Given the description of an element on the screen output the (x, y) to click on. 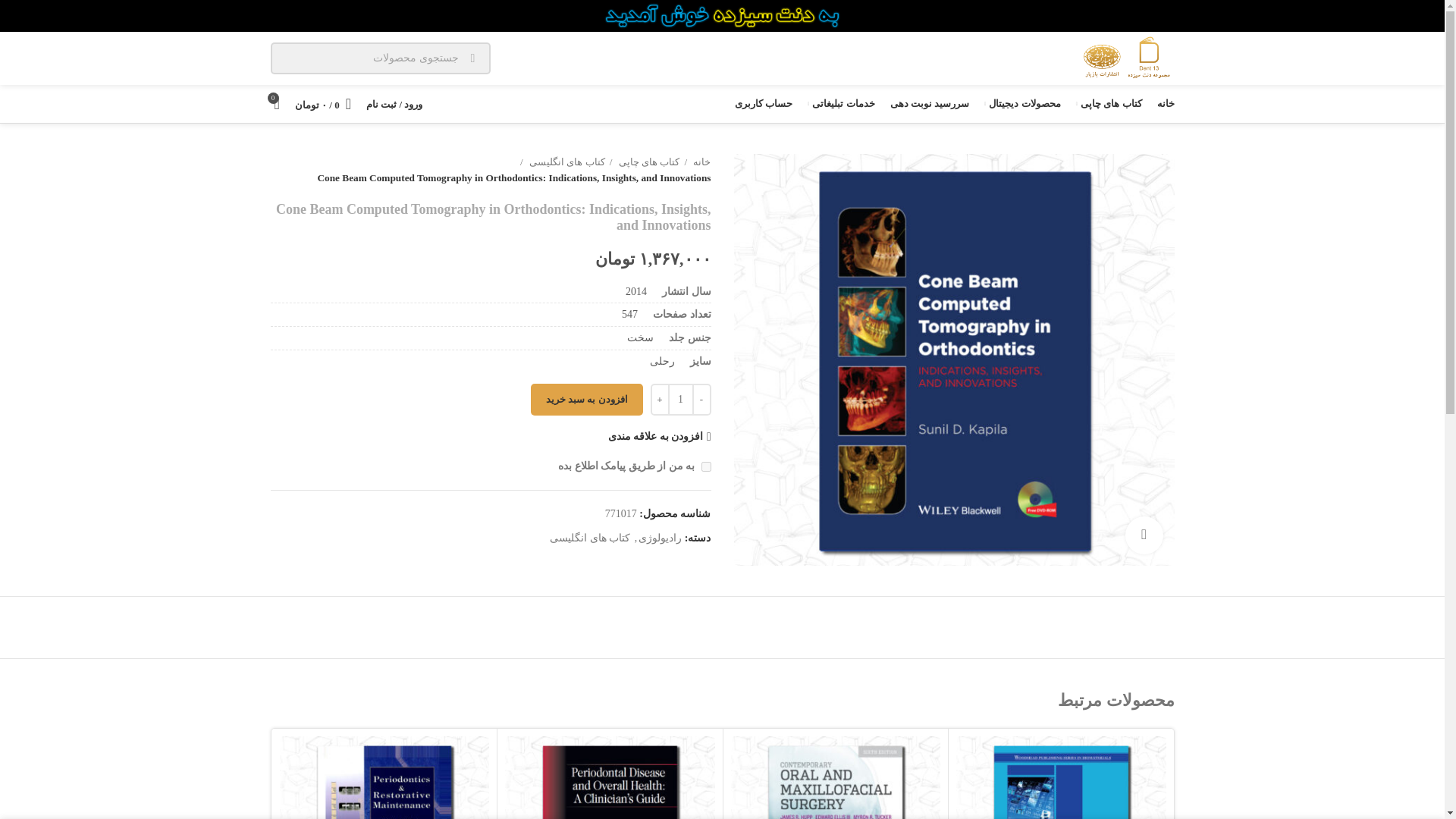
547 (629, 314)
2014 (636, 291)
1 (705, 466)
